Given the description of an element on the screen output the (x, y) to click on. 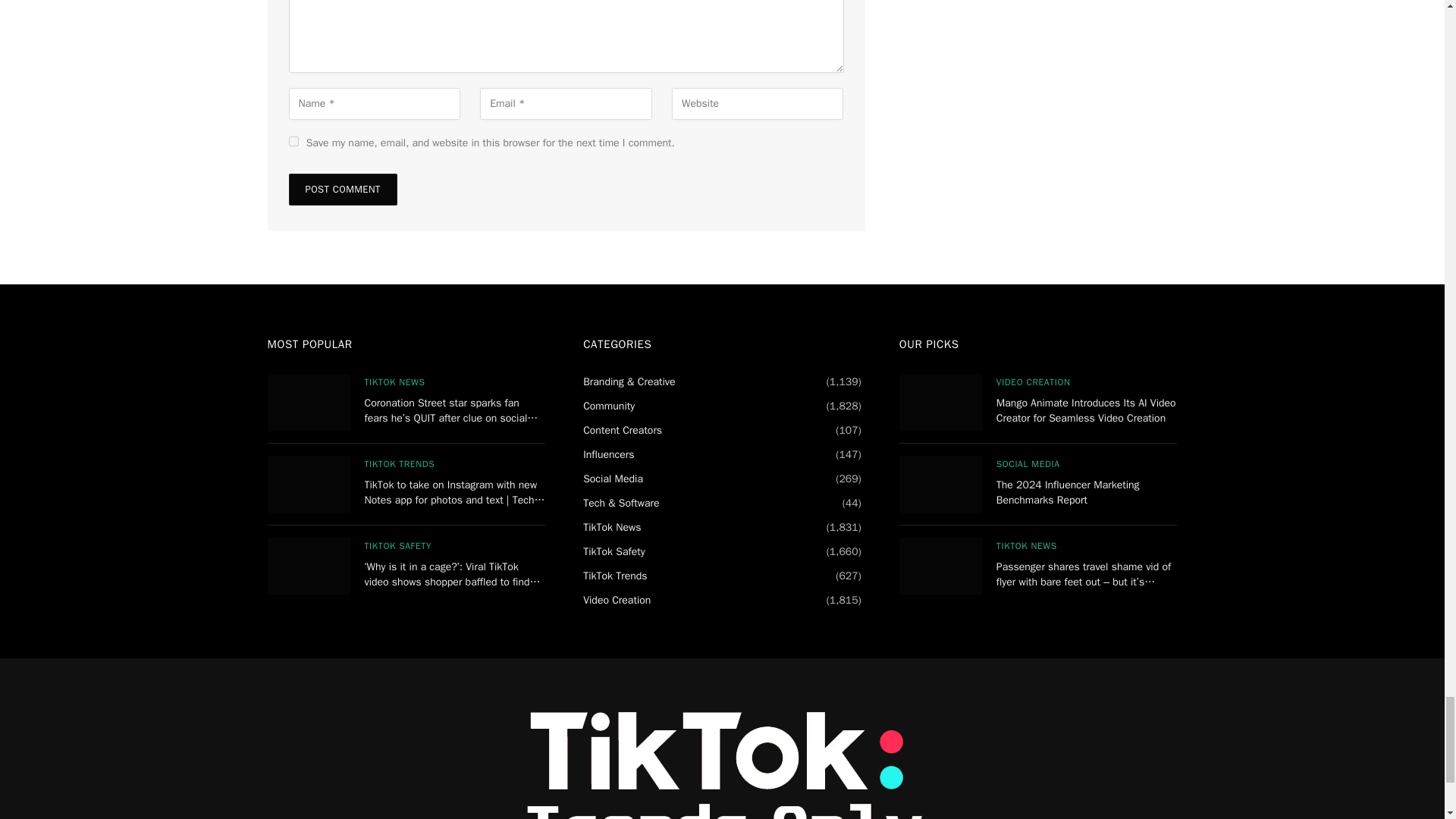
yes (293, 141)
Post Comment (342, 189)
